Given the description of an element on the screen output the (x, y) to click on. 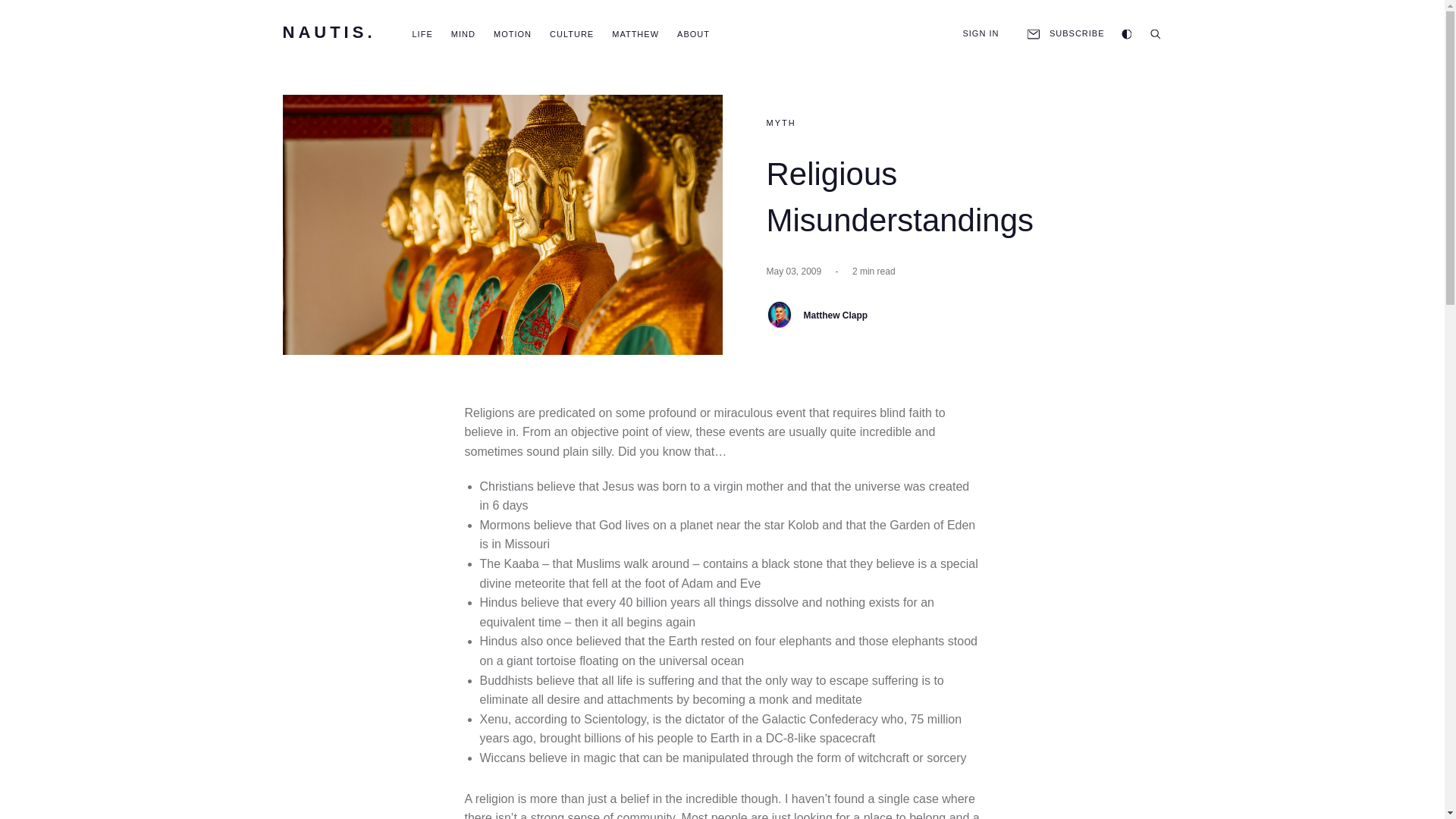
MYTH (779, 122)
SIGN IN (980, 33)
MATTHEW (635, 33)
MOTION (512, 33)
NAUTIS. (328, 32)
SUBSCRIBE (1064, 33)
Matthew Clapp (778, 314)
Matthew Clapp (835, 315)
Matthew Clapp (835, 315)
ABOUT (693, 33)
MIND (463, 33)
CULTURE (572, 33)
